Given the description of an element on the screen output the (x, y) to click on. 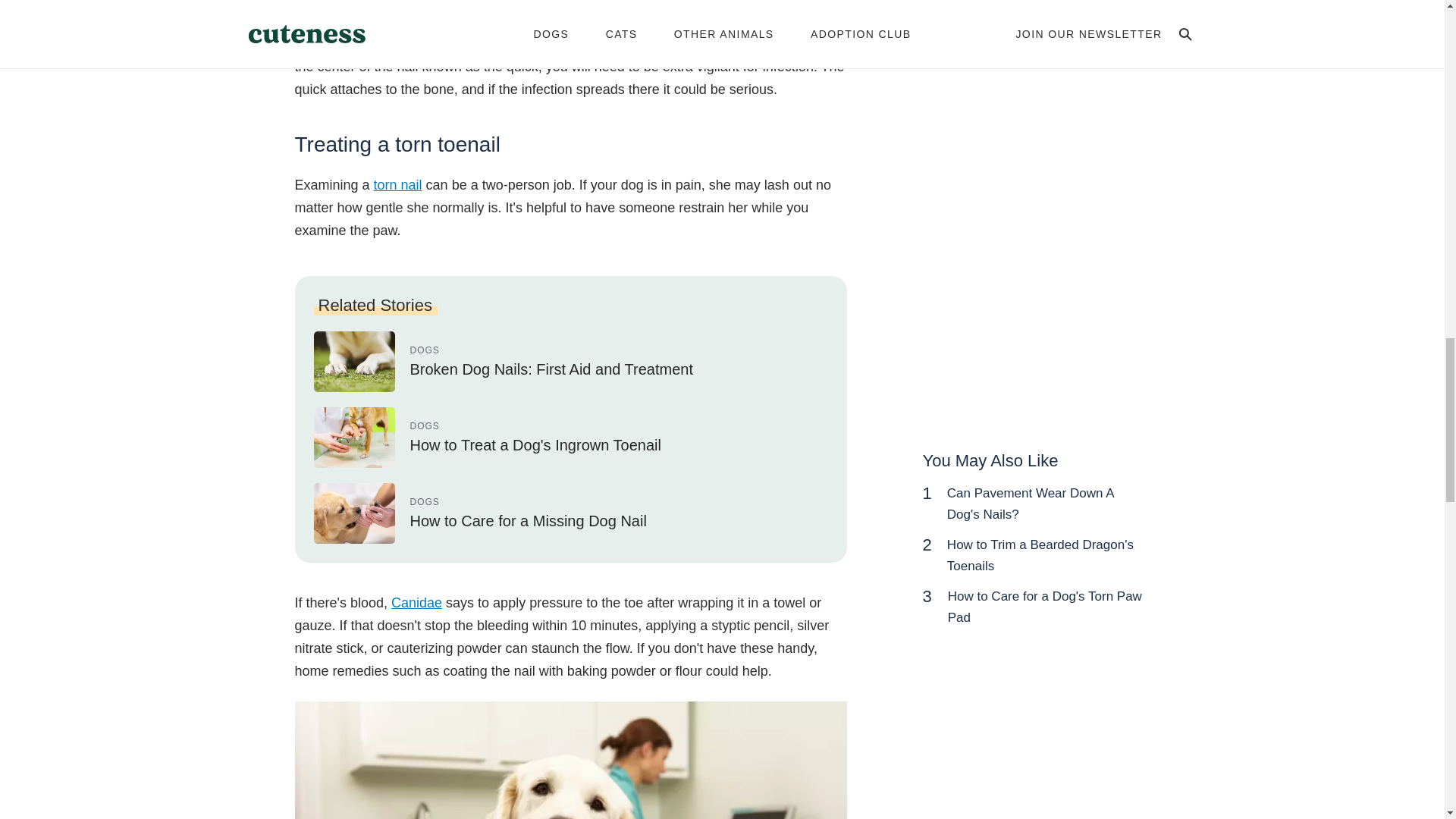
How to Trim a Bearded Dragon's Toenails (1040, 555)
Can Pavement Wear Down A Dog's Nails? (1030, 503)
How to Care for a Dog's Torn Paw Pad (1044, 606)
